Given the description of an element on the screen output the (x, y) to click on. 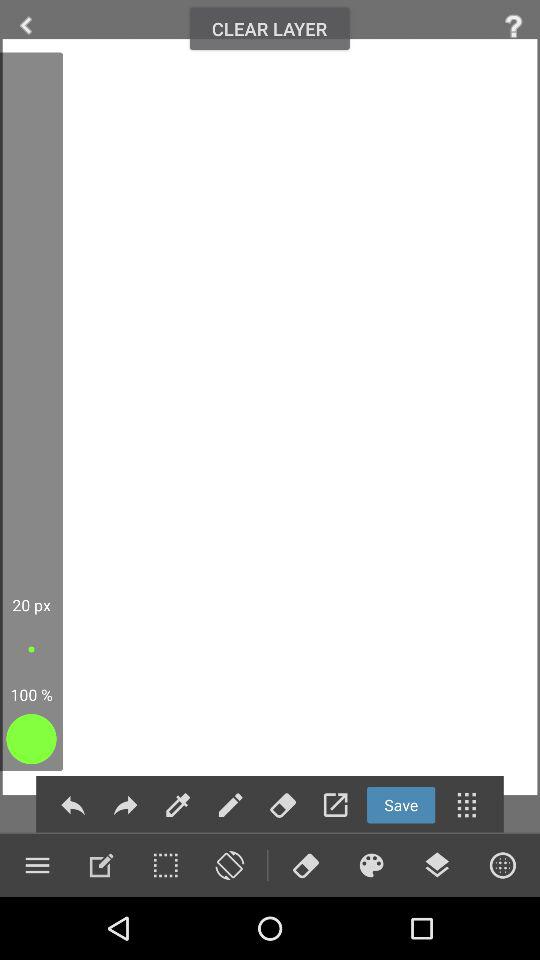
go to menu (37, 865)
